Given the description of an element on the screen output the (x, y) to click on. 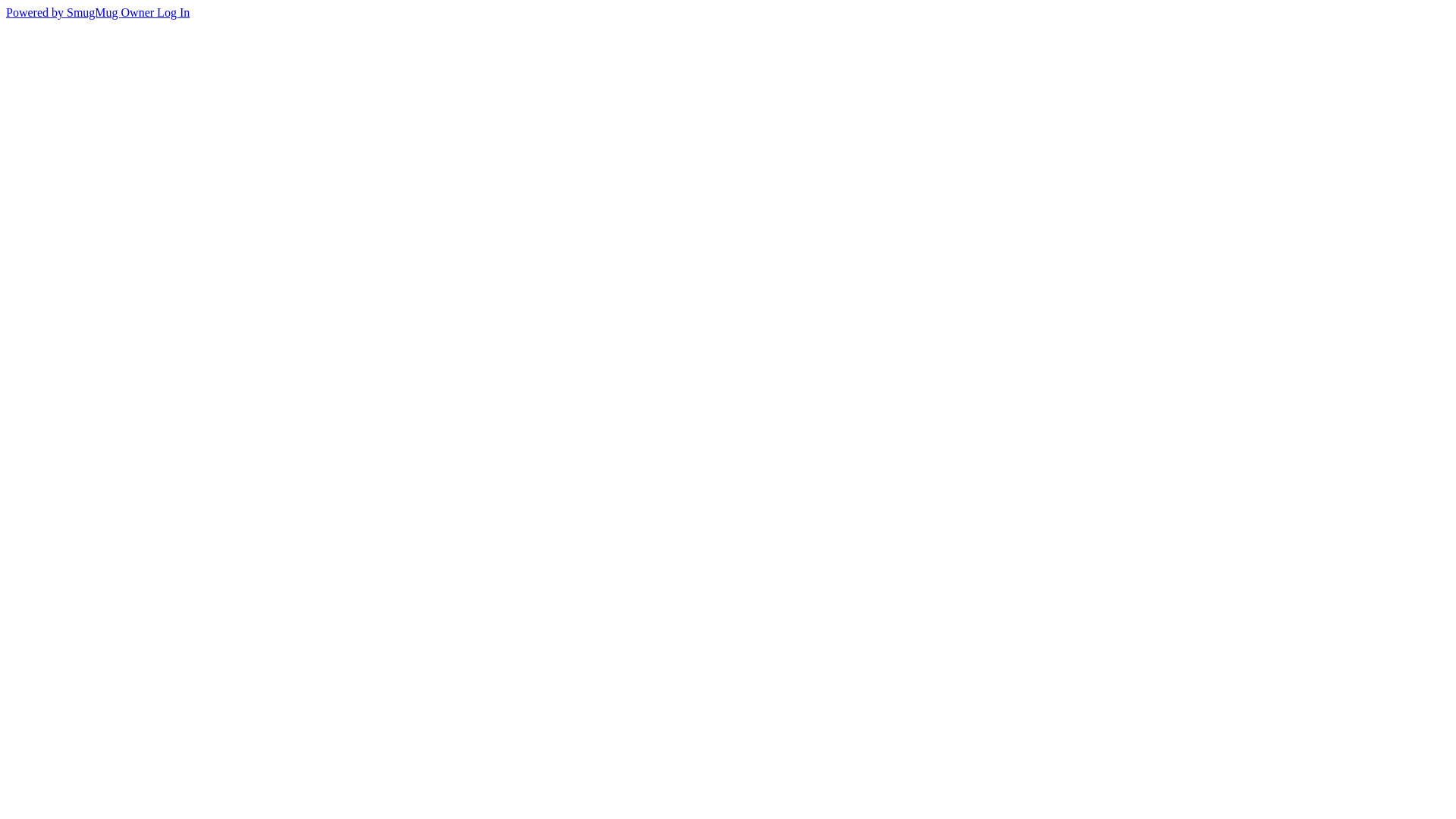
Powered by SmugMug Element type: text (63, 12)
Owner Log In Element type: text (155, 12)
